Given the description of an element on the screen output the (x, y) to click on. 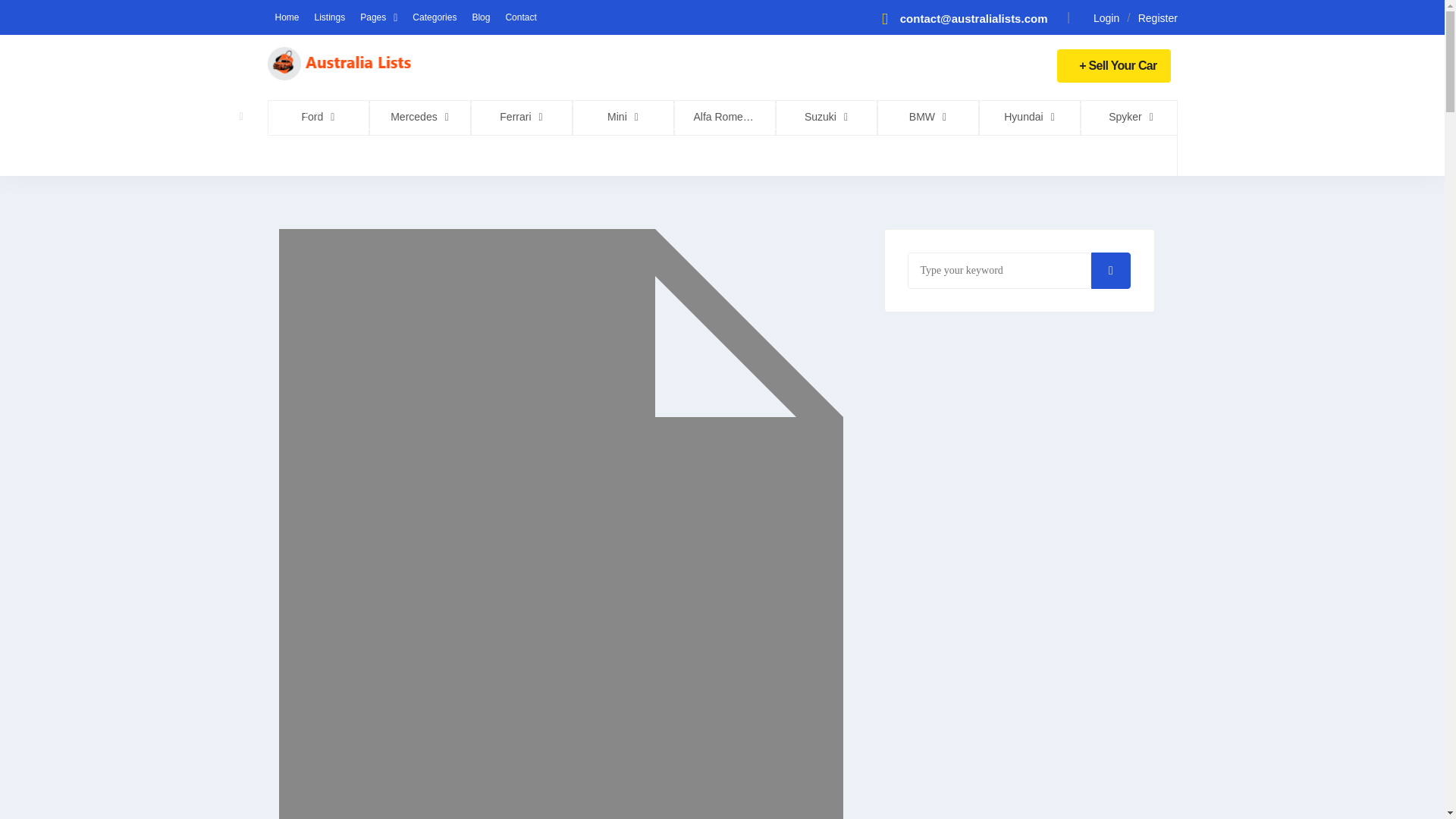
Alfa Romeo (723, 117)
Ford (317, 117)
Mini (622, 117)
Blog (480, 17)
Mercedes (419, 117)
Contact (520, 17)
BMW (927, 117)
Home (285, 17)
Categories (434, 17)
Pages (378, 17)
Mercedes (419, 117)
Ferrari (521, 117)
Listings (330, 17)
Login (1106, 17)
Ford (317, 117)
